Given the description of an element on the screen output the (x, y) to click on. 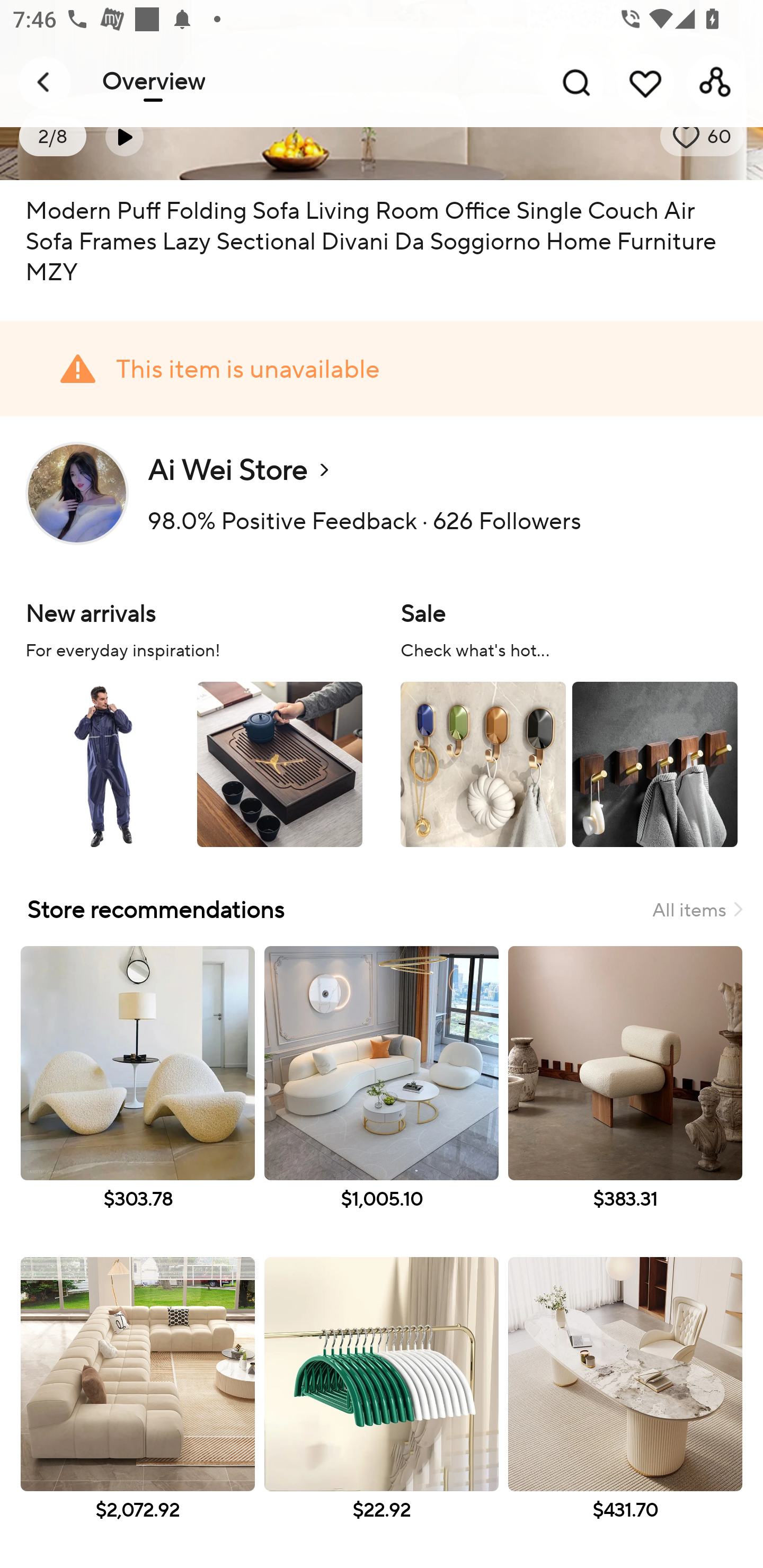
Navigate up (44, 82)
New arrivals For everyday inspiration!  (193, 720)
Sale Check what's hot... (568, 720)
All items (697, 909)
$303.78 (137, 1096)
$1,005.10 (381, 1096)
$383.31 (625, 1096)
$2,072.92 (137, 1407)
$22.92 (381, 1407)
$431.70 (625, 1407)
